Given the description of an element on the screen output the (x, y) to click on. 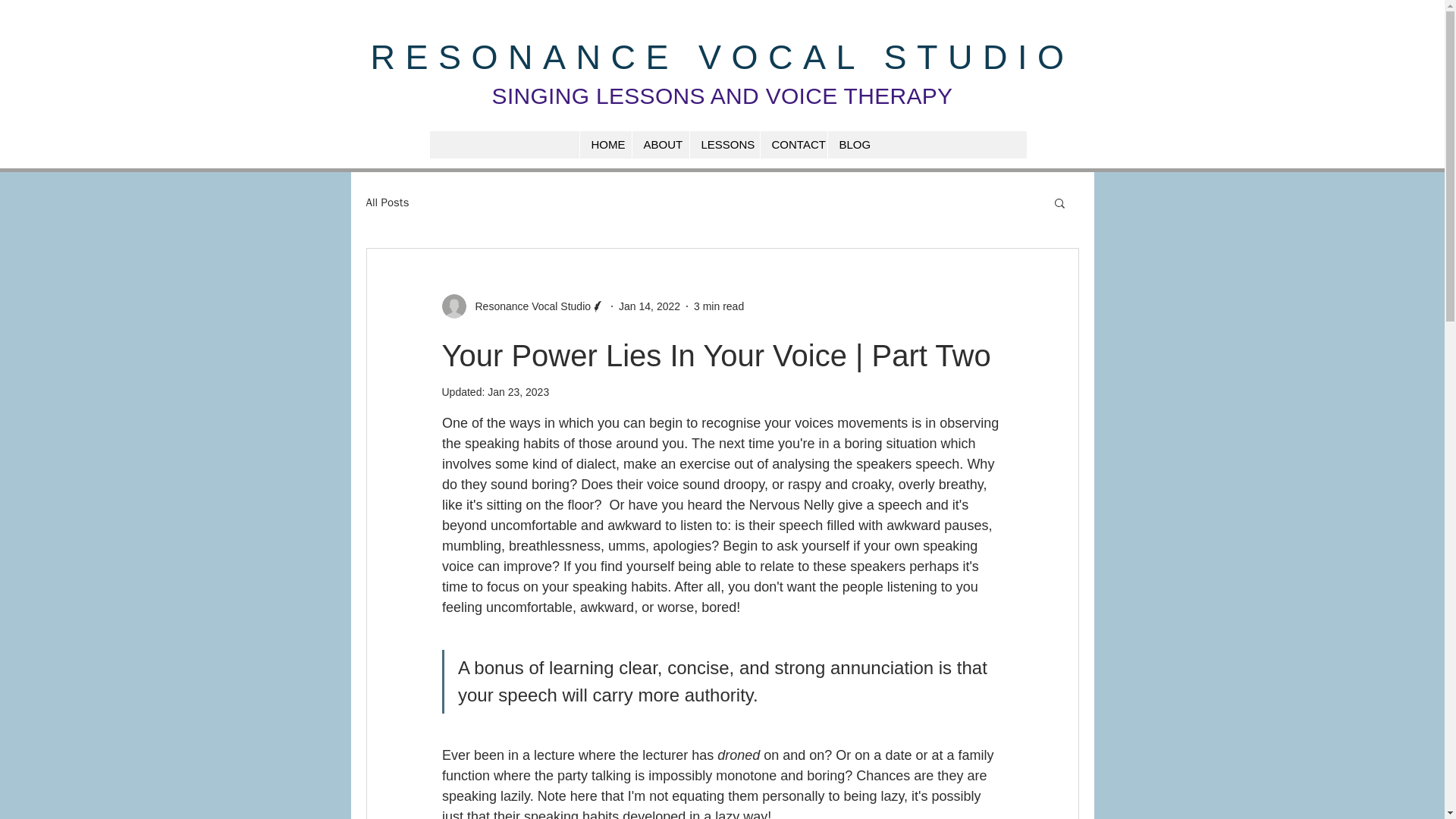
HOME (605, 144)
BLOG (851, 144)
Jan 14, 2022 (648, 306)
Jan 23, 2023 (517, 391)
Resonance Vocal Studio (523, 306)
LESSONS (723, 144)
All Posts (387, 202)
3 min read (719, 306)
Resonance Vocal Studio (528, 306)
CONTACT (793, 144)
ABOUT (659, 144)
